Given the description of an element on the screen output the (x, y) to click on. 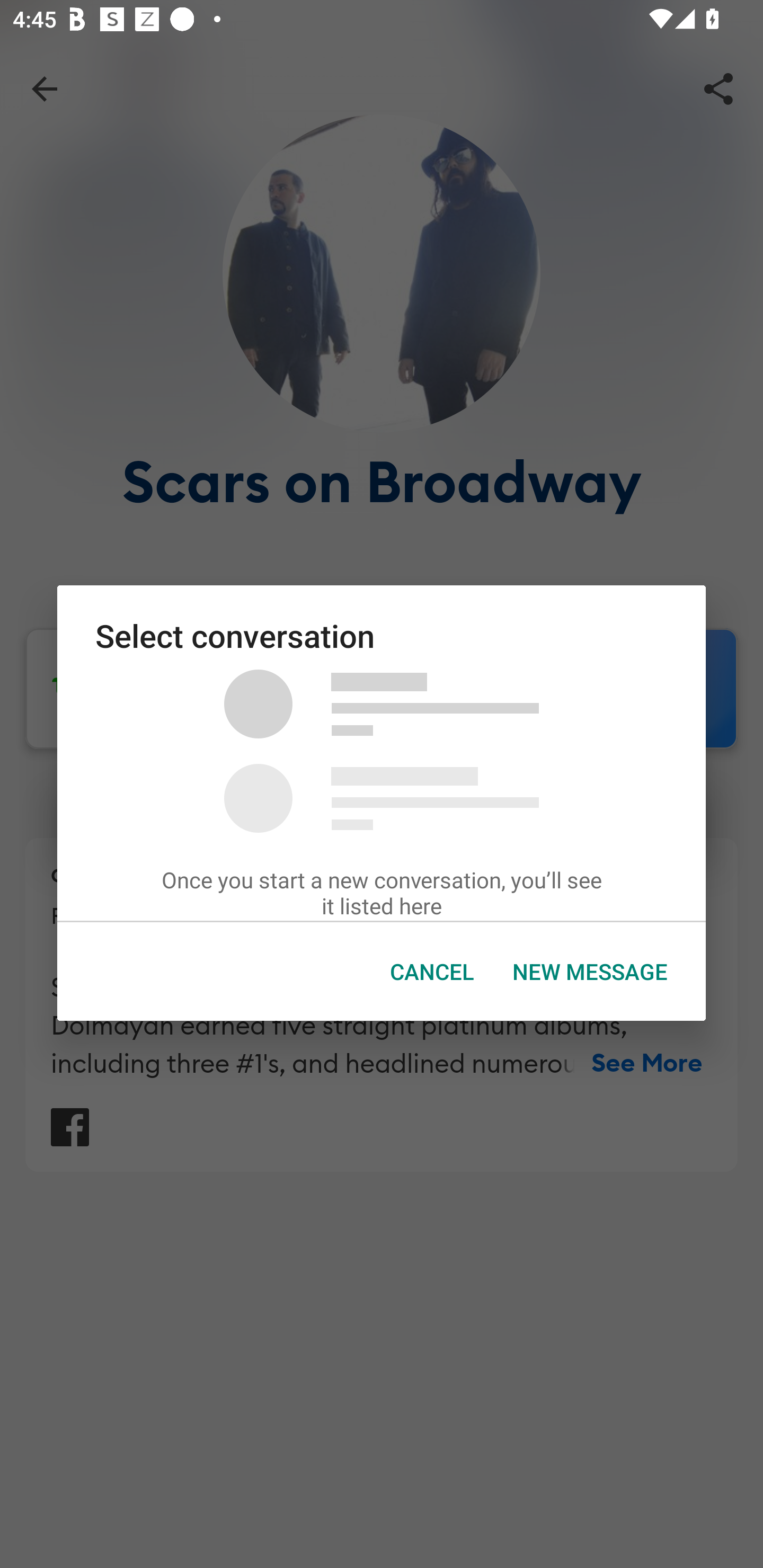
CANCEL (431, 971)
NEW MESSAGE (589, 971)
